Given the description of an element on the screen output the (x, y) to click on. 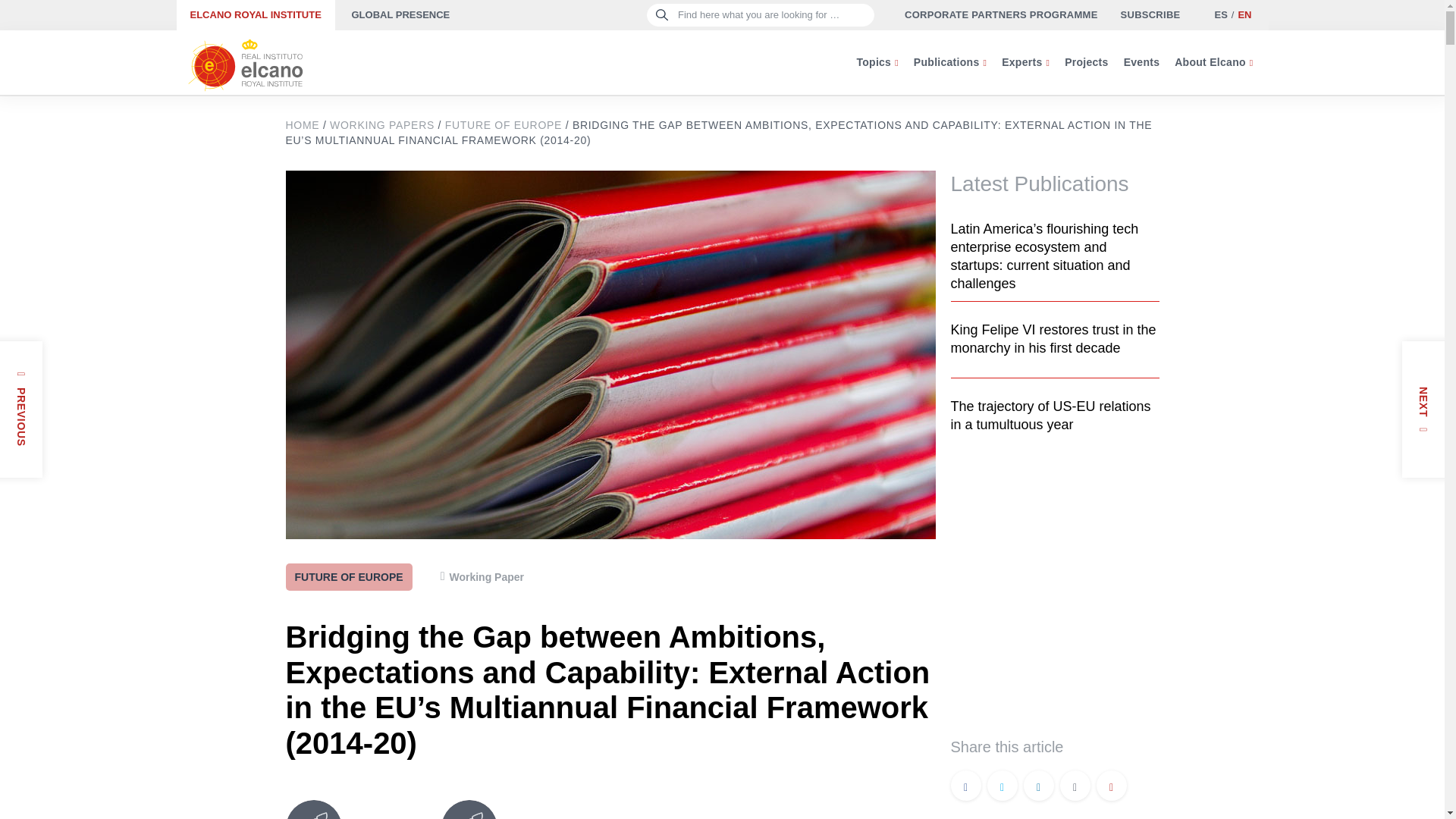
Events (1141, 61)
Search (39, 18)
About Elcano (1213, 61)
Projects (1086, 61)
SUBSCRIBE (1150, 15)
Publications (949, 61)
Posted on 19 Oct 2012 (5, 449)
Experts (1025, 61)
Copy Link (1111, 787)
Topics (876, 61)
GLOBAL PRESENCE (400, 15)
ES (1219, 14)
EN (1244, 14)
CORPORATE PARTNERS PROGRAMME (1000, 15)
